Given the description of an element on the screen output the (x, y) to click on. 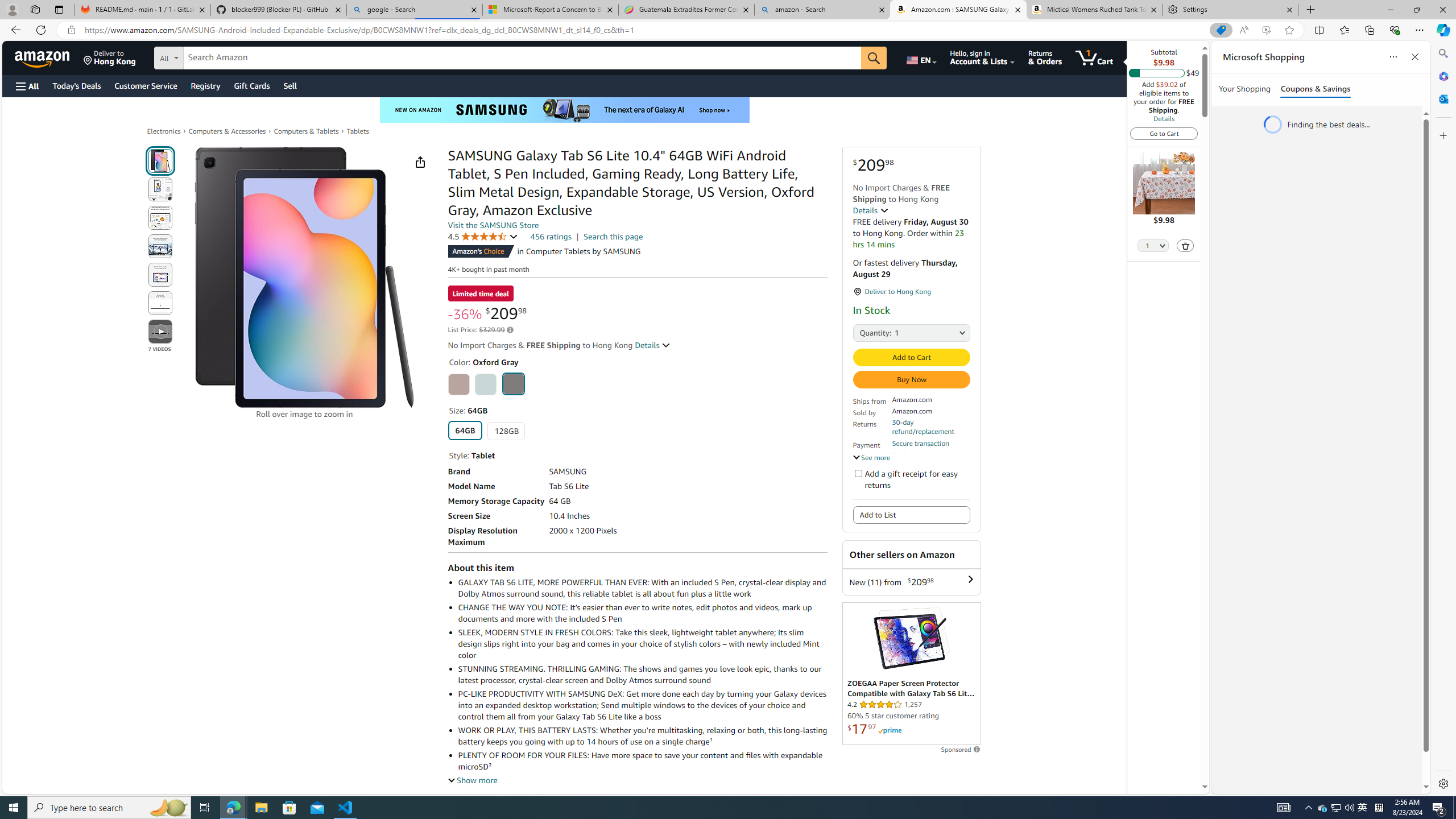
Search this page (613, 236)
Go (873, 57)
Galaxy AI is here (564, 109)
